Given the description of an element on the screen output the (x, y) to click on. 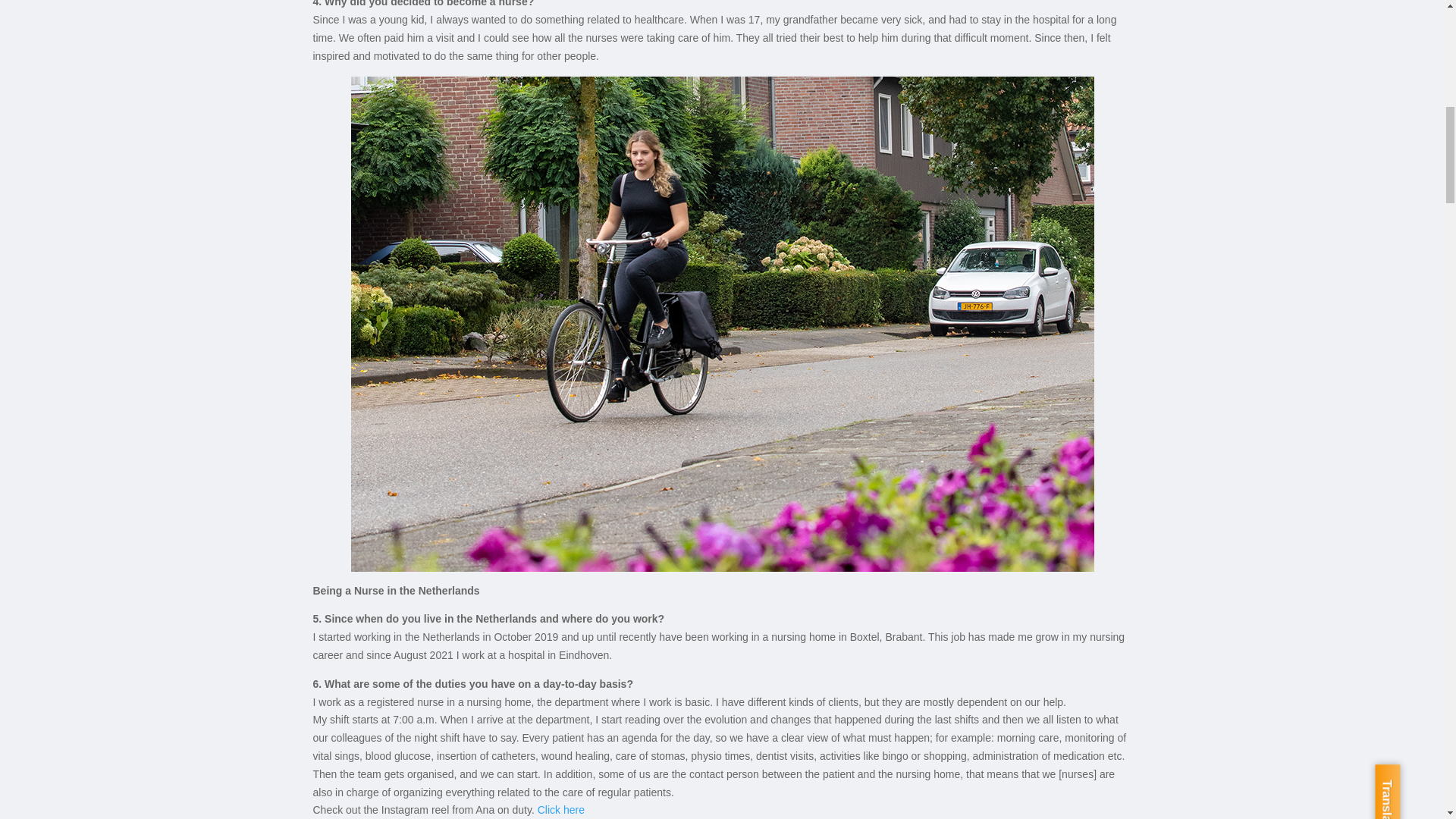
Click here (561, 809)
